Given the description of an element on the screen output the (x, y) to click on. 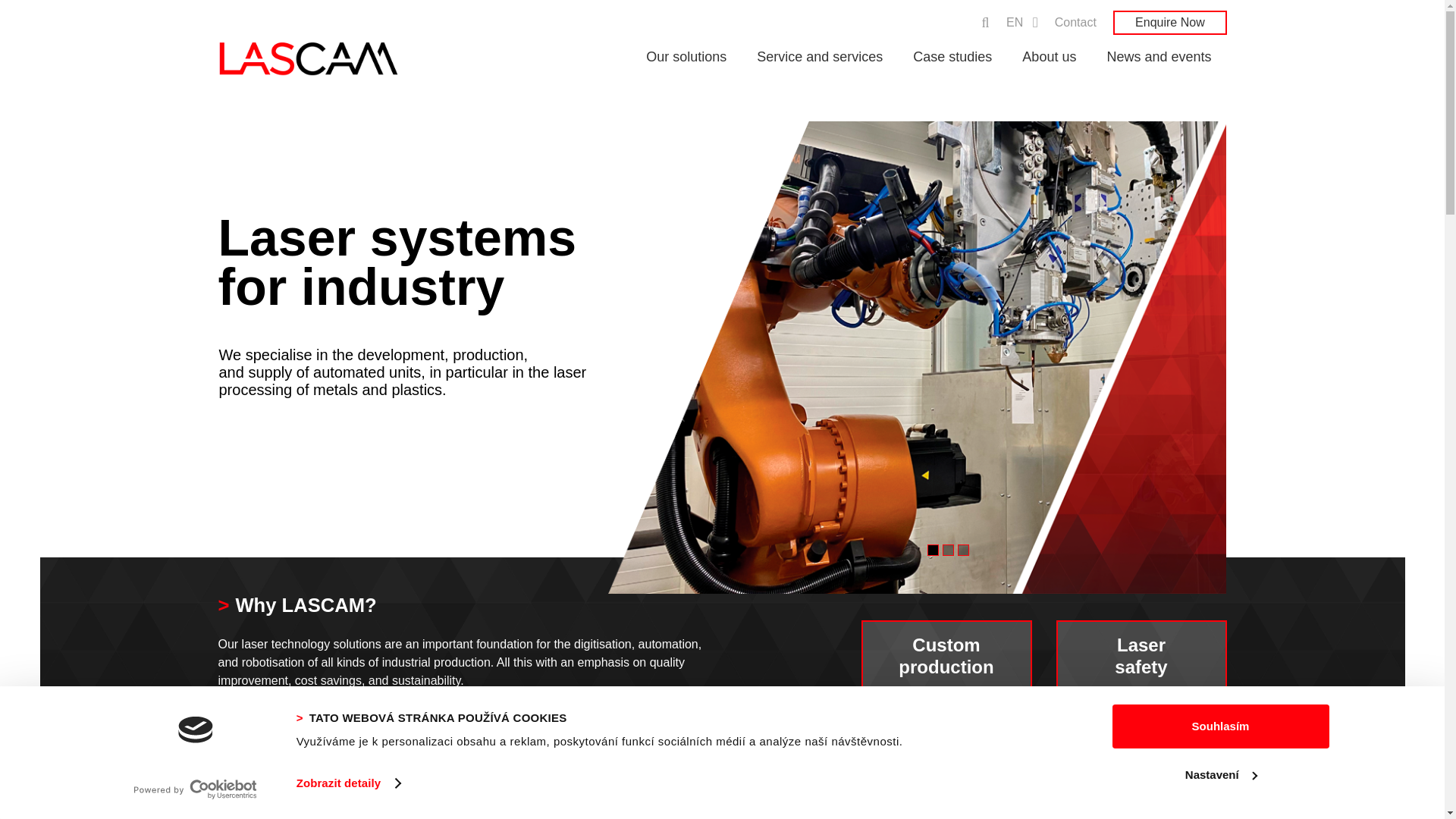
About us (282, 728)
Zobrazit detaily (348, 783)
